Given the description of an element on the screen output the (x, y) to click on. 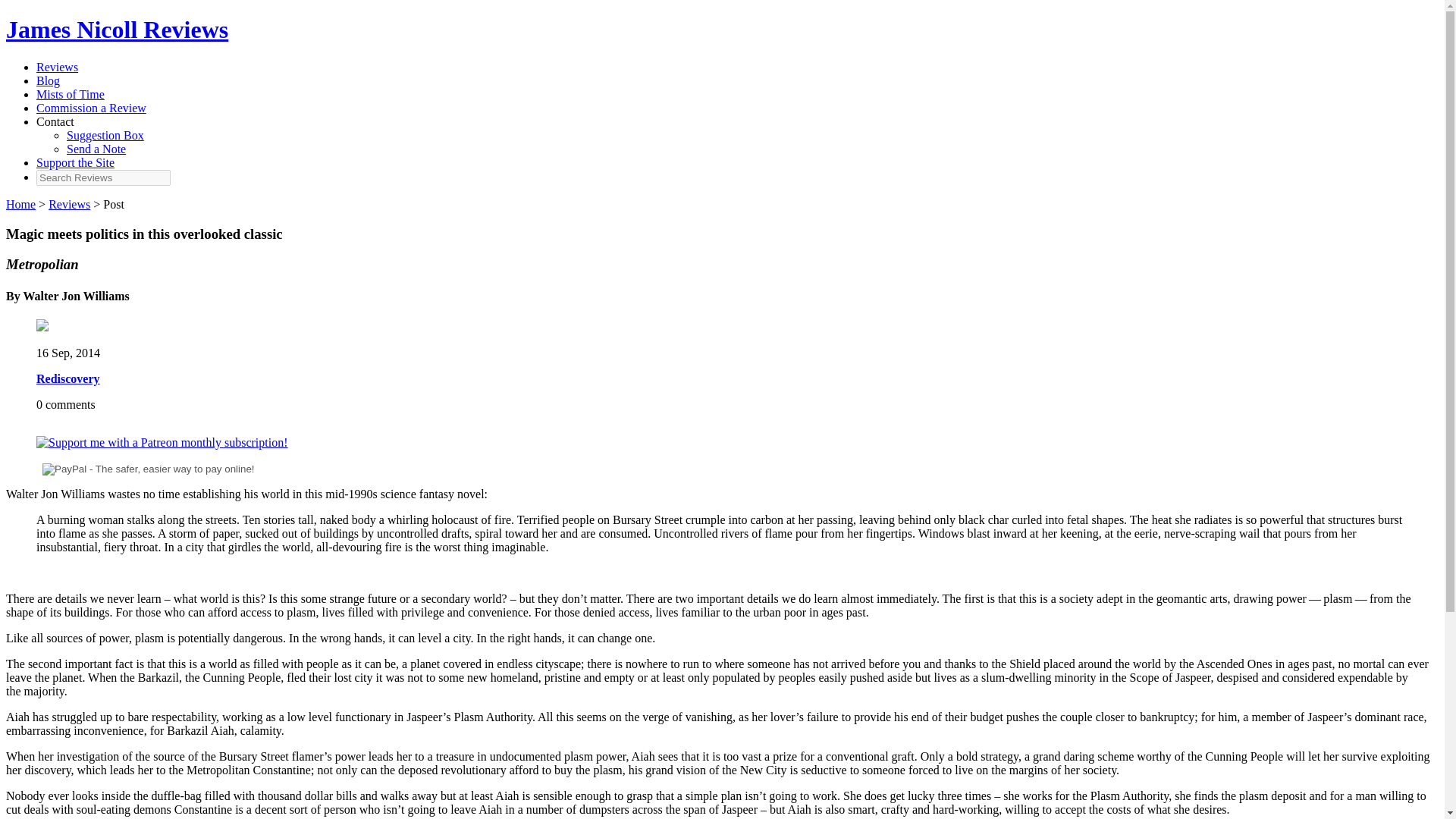
Send a Note (95, 148)
Reviews (57, 66)
Patreon (162, 441)
Reviews (69, 204)
Suggestion Box (105, 134)
Home (19, 204)
Blog (47, 80)
Support the Site (75, 162)
Commission a Review (91, 107)
Rediscovery (68, 378)
